Given the description of an element on the screen output the (x, y) to click on. 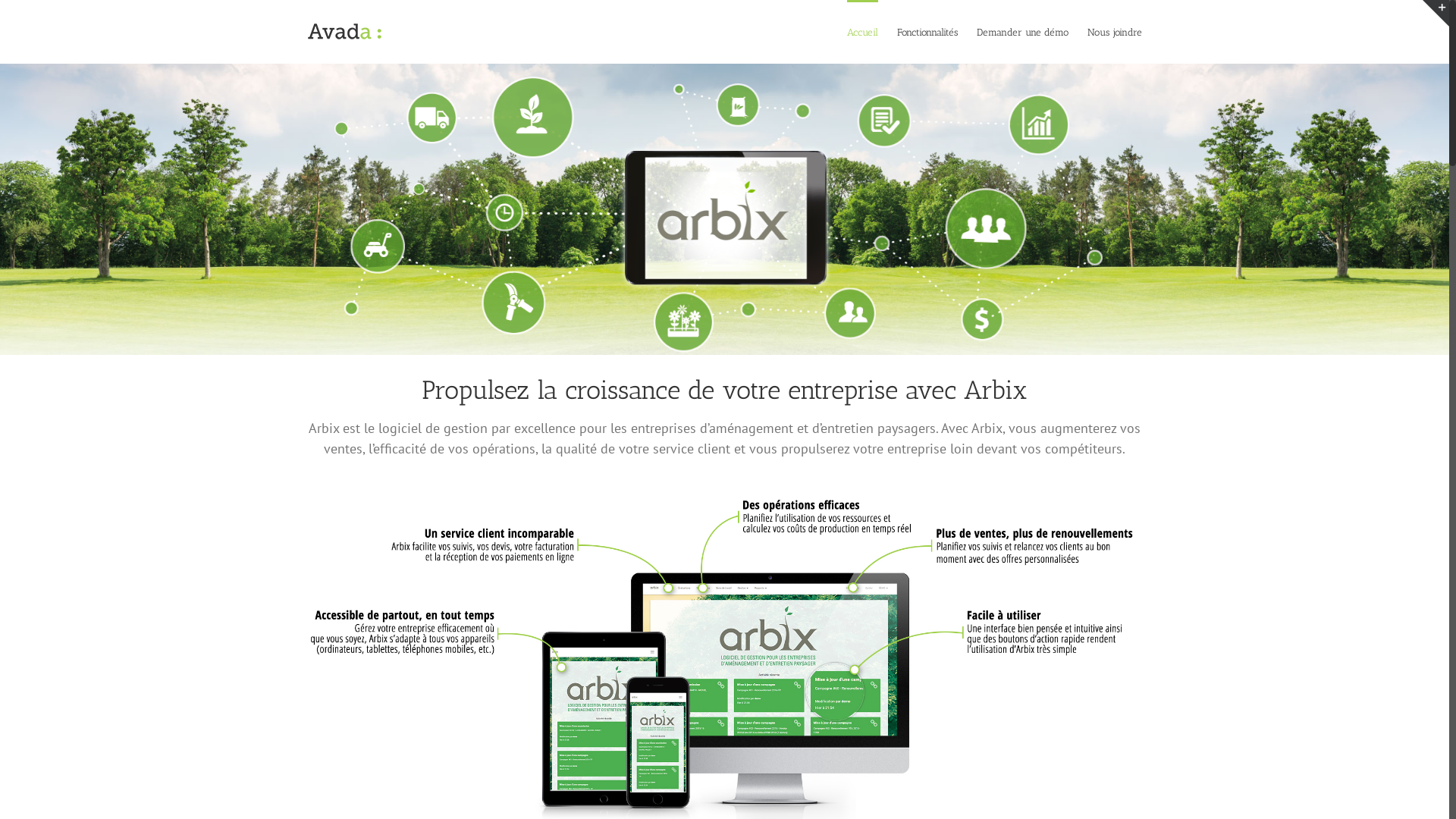
Accueil Element type: text (861, 31)
Nous joindre Element type: text (1114, 31)
